Given the description of an element on the screen output the (x, y) to click on. 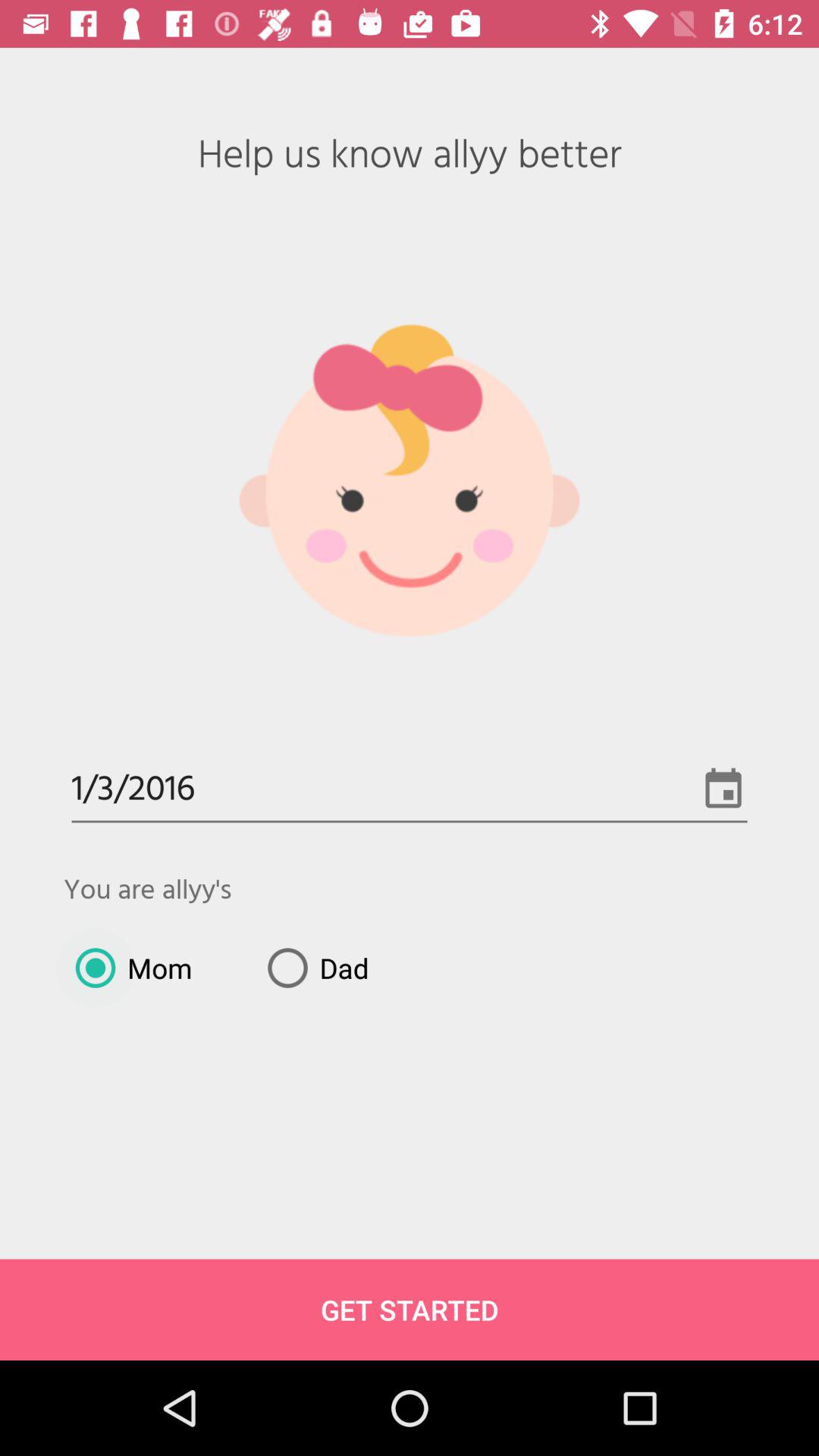
jump until the dad item (312, 967)
